Given the description of an element on the screen output the (x, y) to click on. 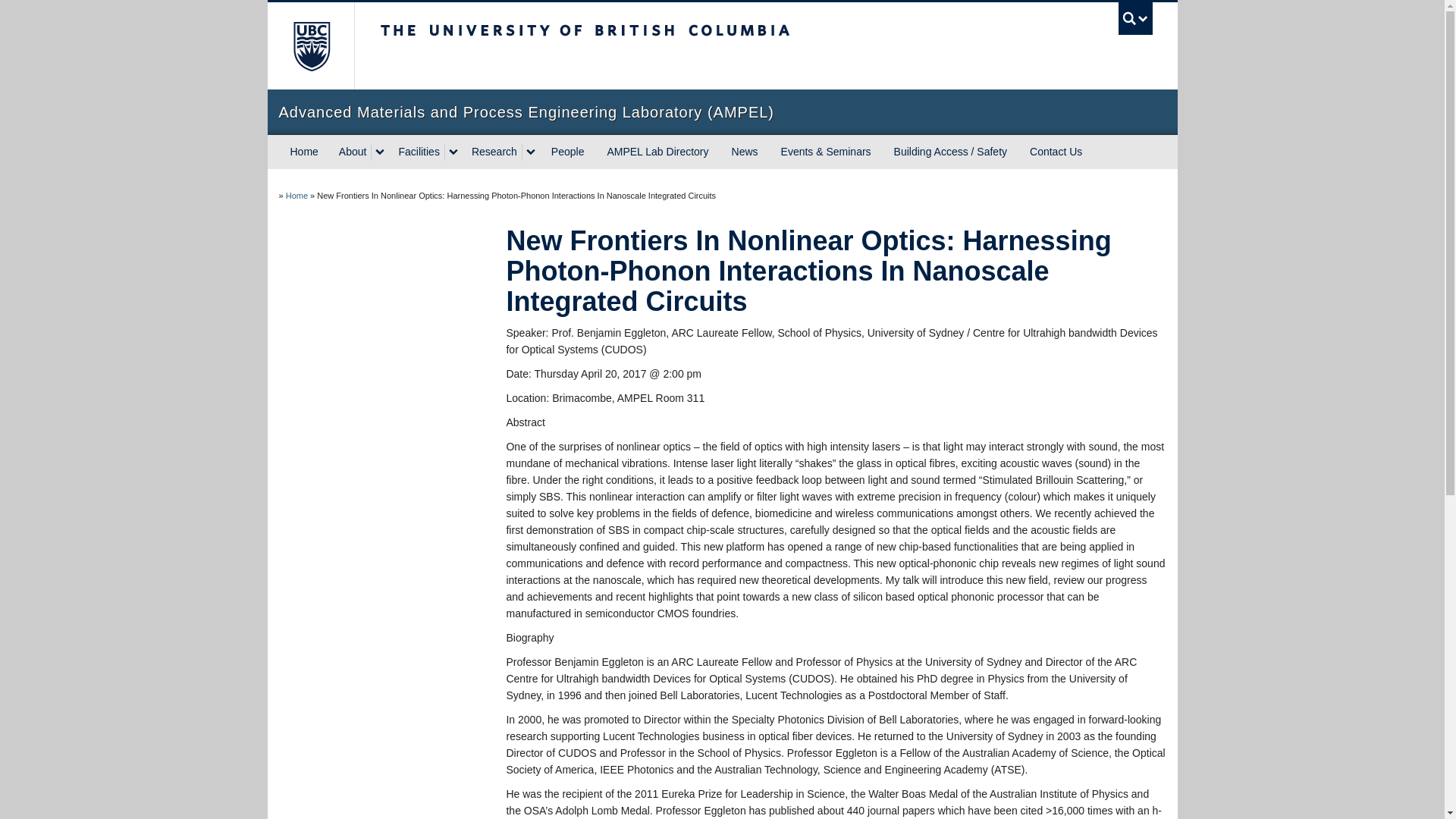
AMPEL Lab Directory (657, 151)
UBC Search (1135, 18)
People (567, 151)
Home (304, 151)
Advanced Materials and Process Engineering Laboratory (296, 194)
About (351, 151)
The University of British Columbia (635, 45)
The University of British Columbia (309, 45)
Research (492, 151)
News (745, 151)
